Given the description of an element on the screen output the (x, y) to click on. 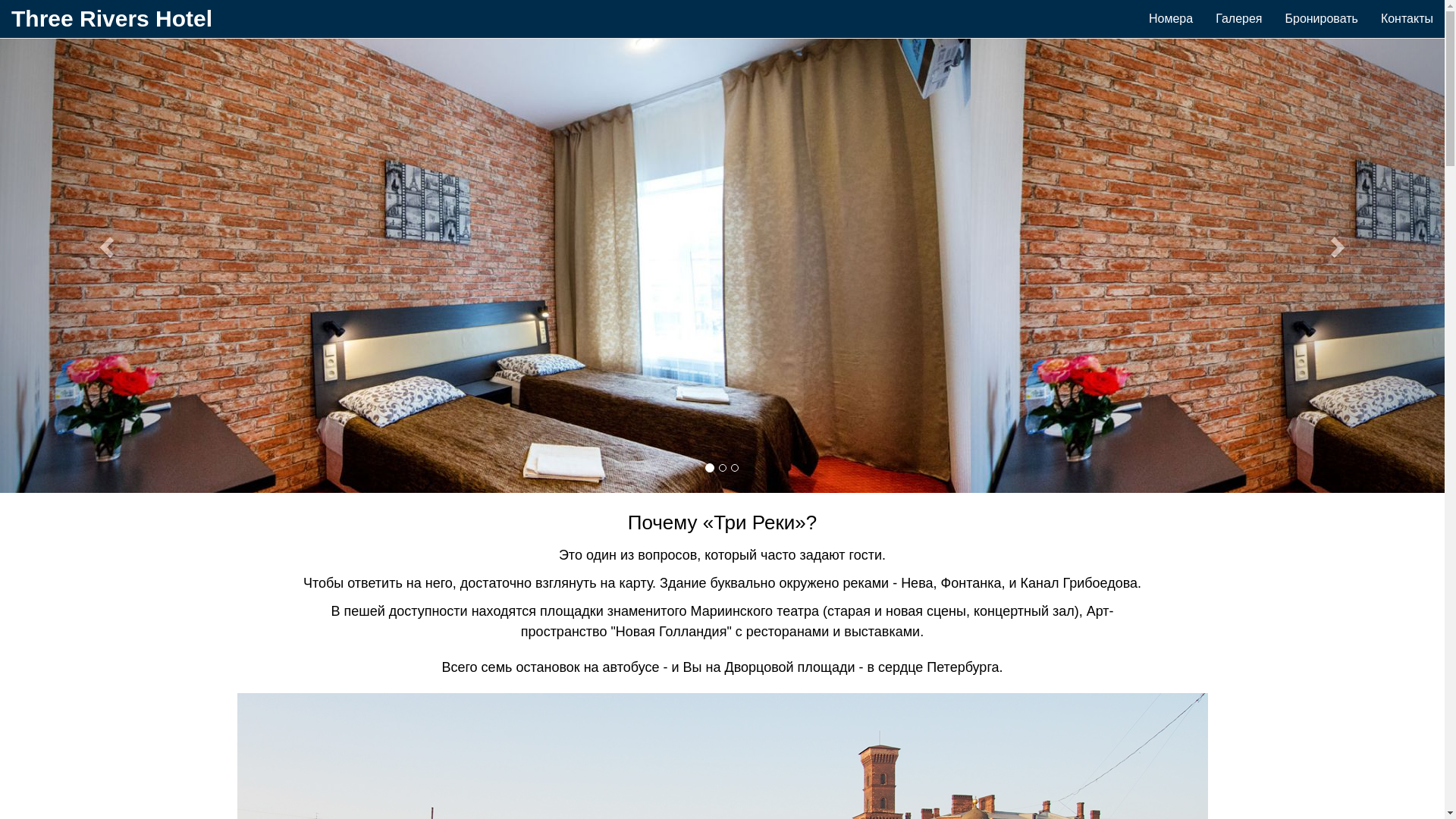
Three Rivers Hotel Element type: text (111, 18)
